Given the description of an element on the screen output the (x, y) to click on. 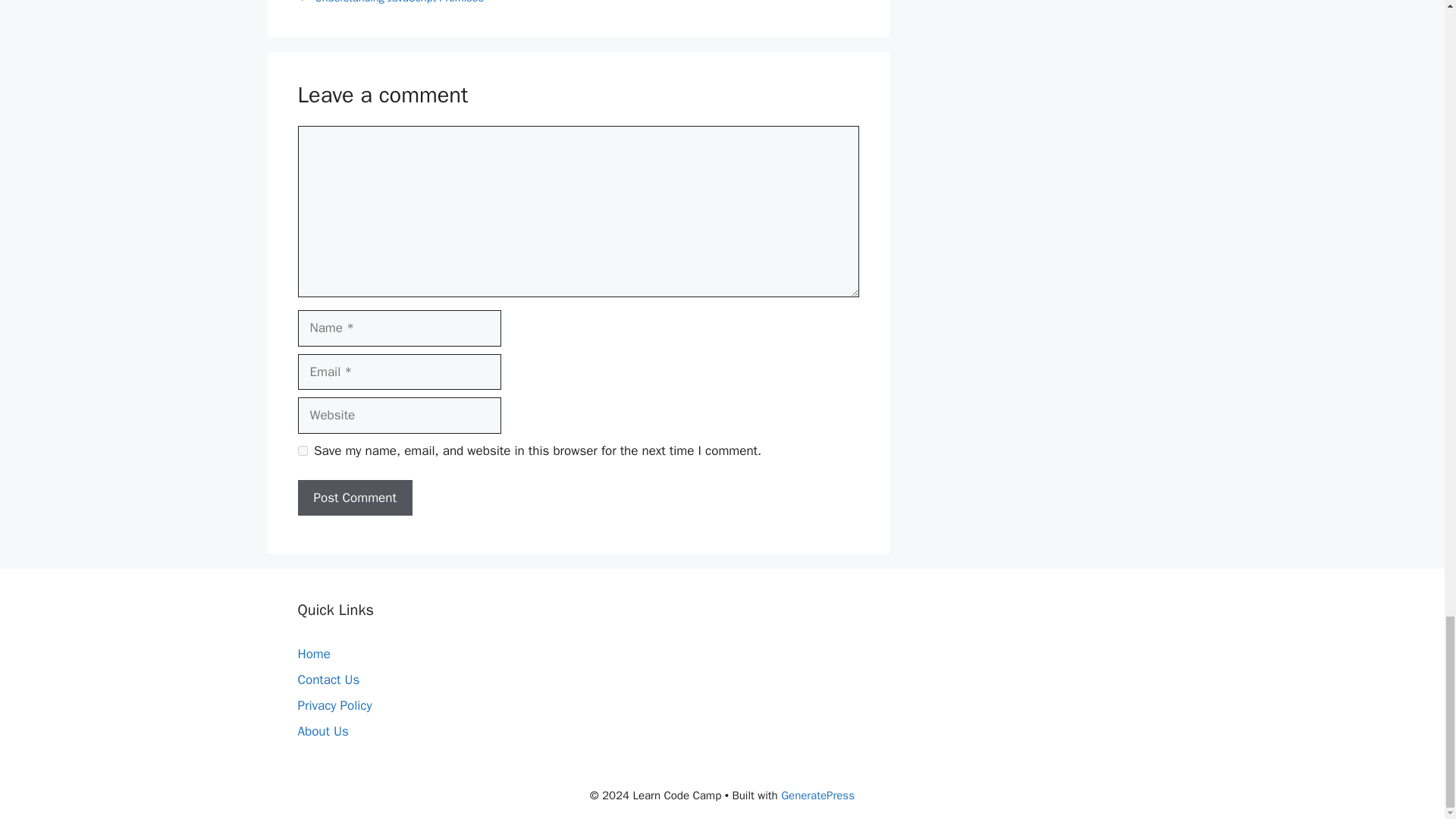
Post Comment (354, 497)
Understanding JavaScript Promises (399, 2)
yes (302, 450)
Post Comment (354, 497)
